Given the description of an element on the screen output the (x, y) to click on. 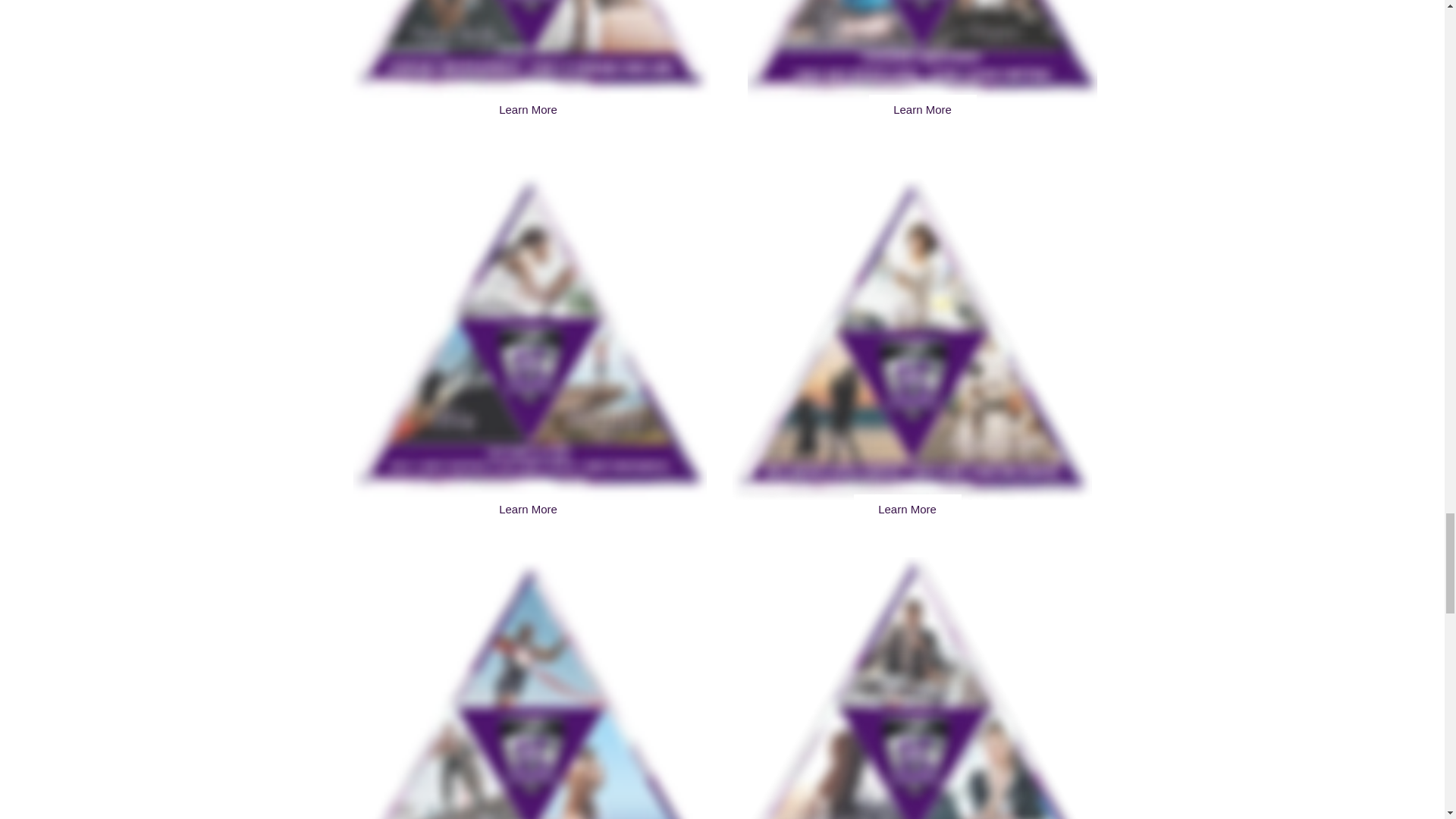
Learn More (528, 509)
Learn More (528, 110)
Learn More (906, 509)
Learn More (922, 110)
